Given the description of an element on the screen output the (x, y) to click on. 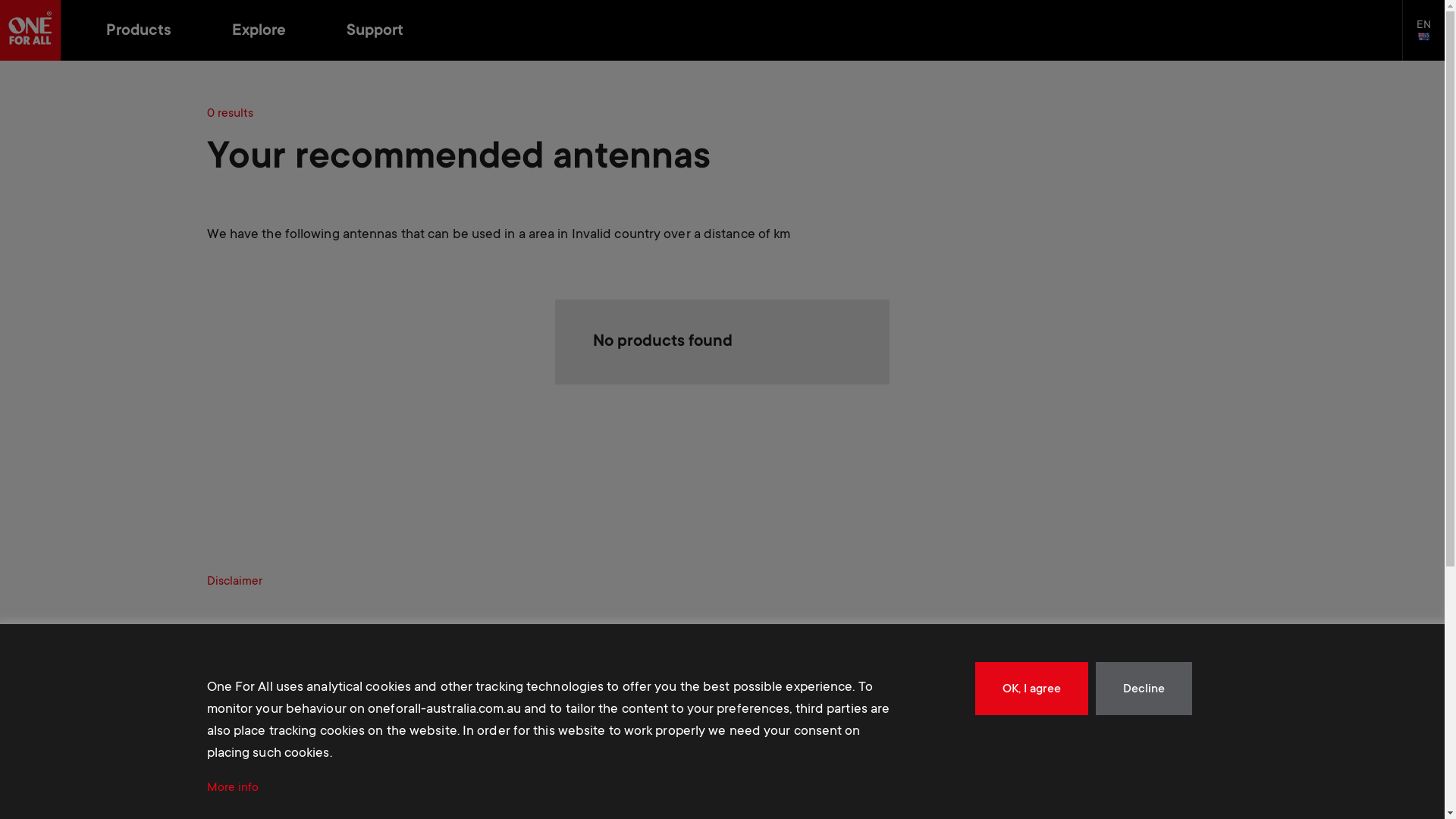
EN Element type: text (1423, 30)
OK, I agree Element type: text (1031, 688)
Support Element type: text (374, 31)
Skip to main content Element type: text (0, 60)
Disclaimer Element type: text (233, 581)
Home Element type: hover (30, 30)
Explore Element type: text (258, 31)
Decline Element type: text (1143, 688)
More info Element type: text (231, 788)
